Given the description of an element on the screen output the (x, y) to click on. 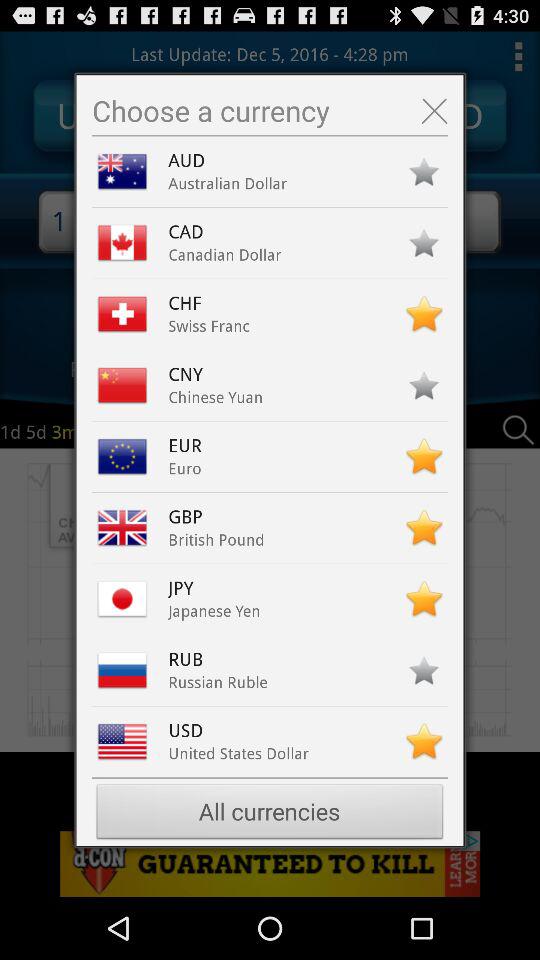
tap the swiss franc app (208, 325)
